Given the description of an element on the screen output the (x, y) to click on. 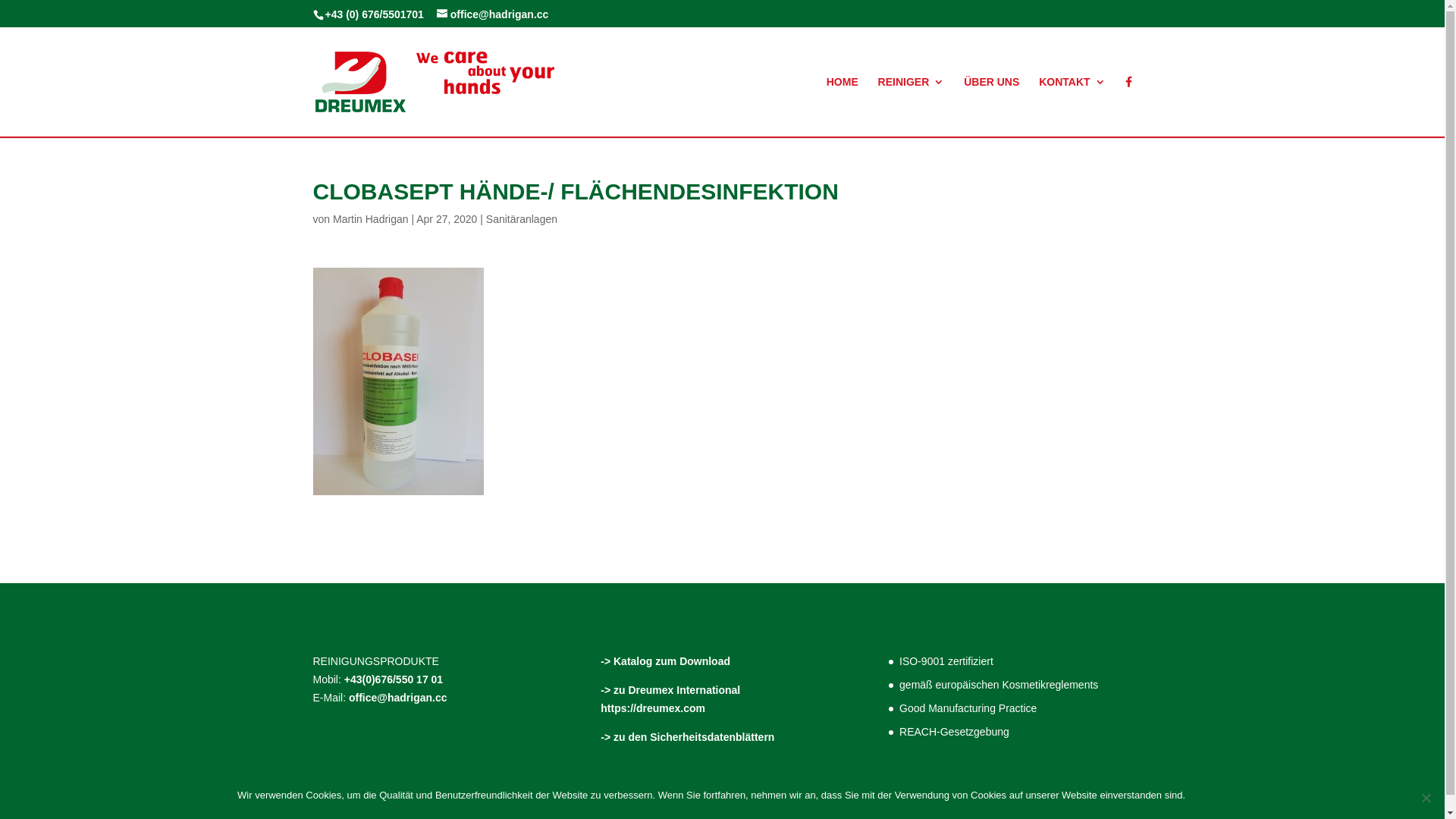
Nein Element type: hover (1425, 797)
Datenschutz Element type: text (816, 811)
office@hadrigan.cc Element type: text (397, 697)
https://dreumex.com Element type: text (652, 708)
office@hadrigan.cc Element type: text (492, 13)
OK Element type: text (1199, 795)
+43(0)676/550 17 01 Element type: text (393, 679)
REINIGER Element type: text (911, 106)
-> Katalog zum Download Element type: text (665, 661)
Martin Hadrigan Element type: text (370, 219)
Impressum Element type: text (748, 811)
+43 (0) 676/5501701 Element type: text (373, 13)
Werbe! Know How Element type: text (568, 811)
-> zu Dreumex International Element type: text (670, 690)
HOME Element type: text (842, 106)
KONTAKT Element type: text (1071, 106)
